Given the description of an element on the screen output the (x, y) to click on. 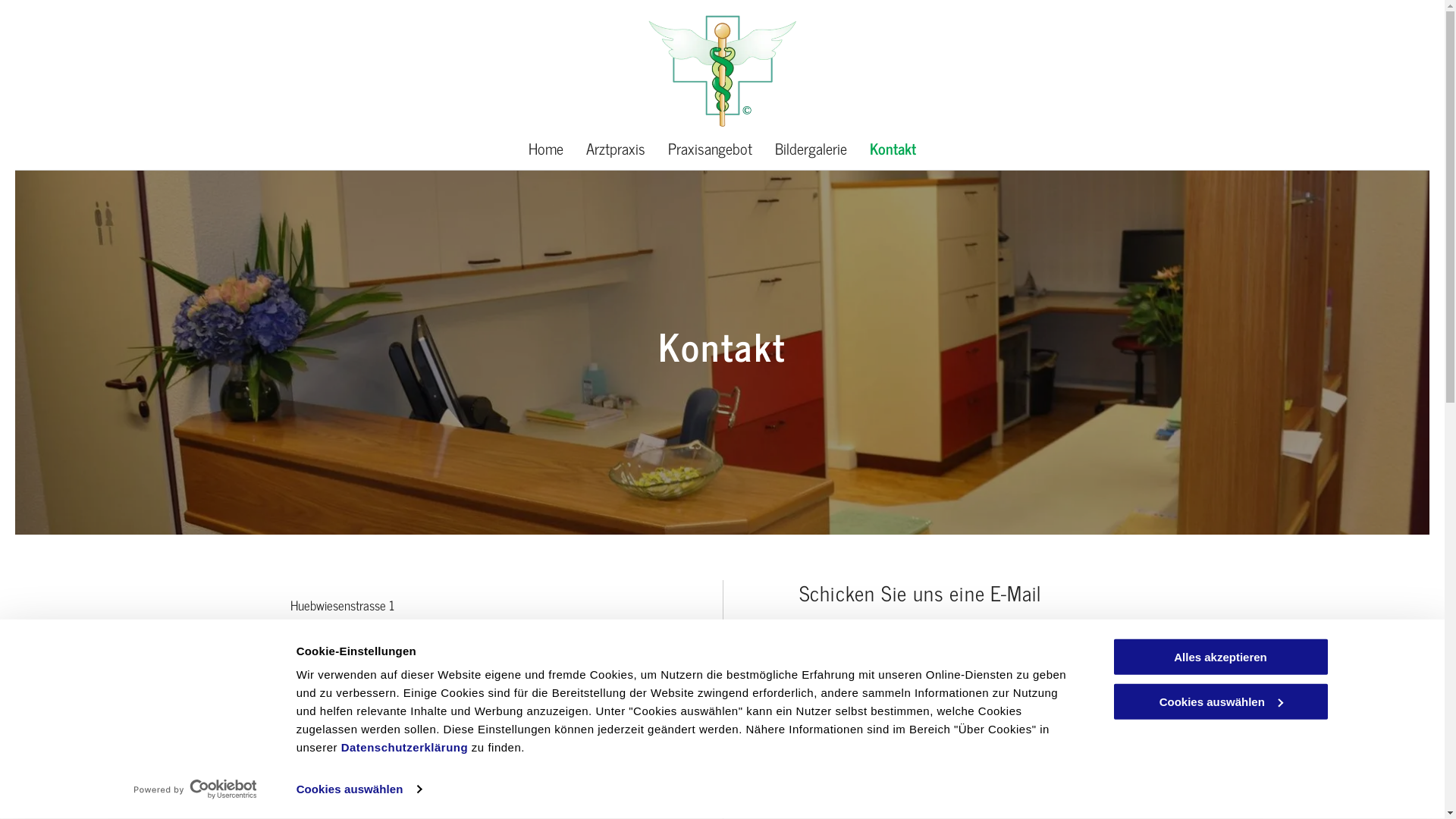
arztpraxis.pastorini@hin.ch Element type: text (389, 698)
Home Element type: text (545, 148)
Arztpraxis Element type: text (615, 148)
Alles akzeptieren Element type: text (1219, 656)
044 748 05 11 Element type: text (369, 674)
Bildergalerie Element type: text (811, 148)
Praxisangebot Element type: text (710, 148)
Kontakt Element type: text (892, 148)
